Given the description of an element on the screen output the (x, y) to click on. 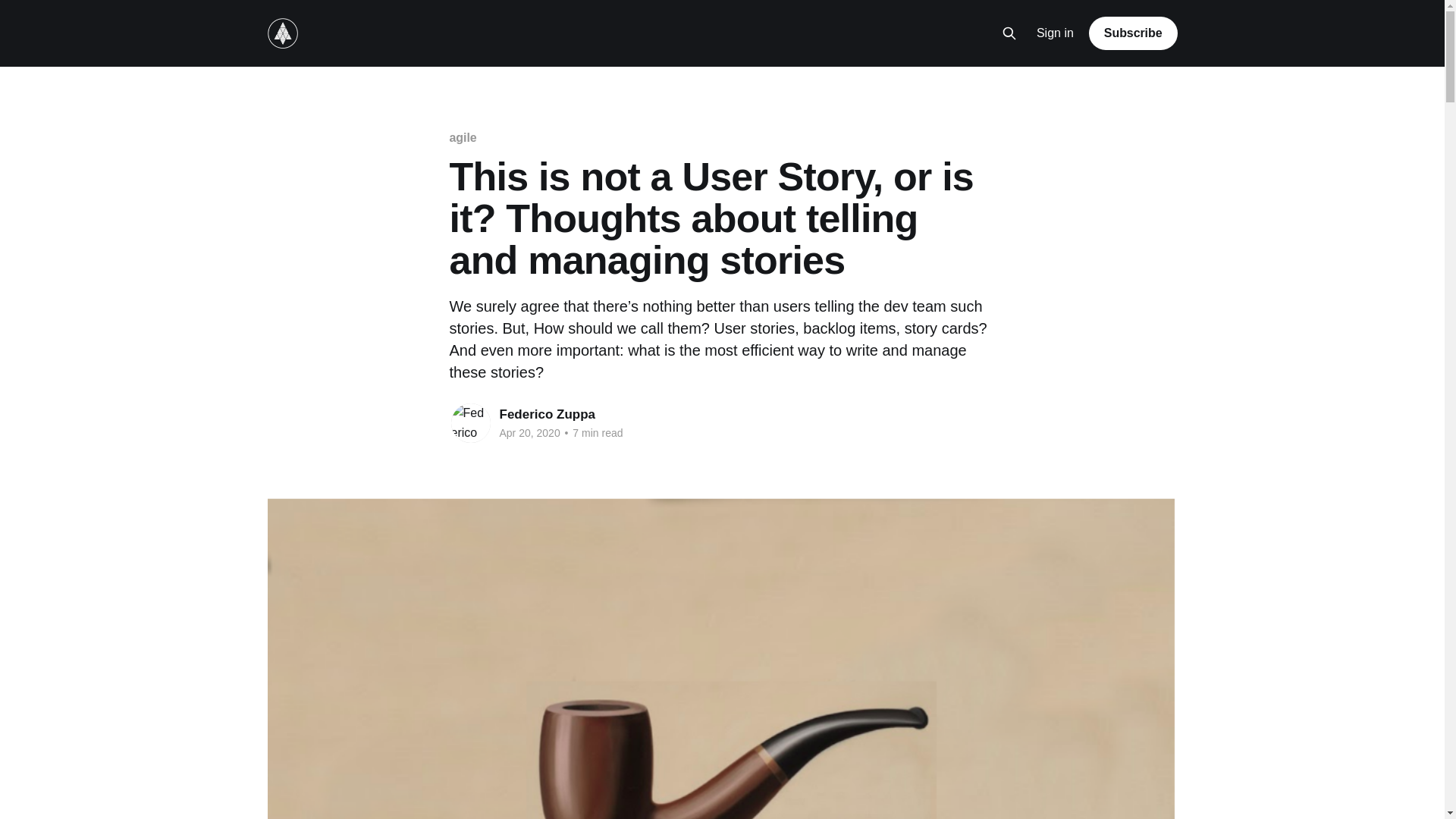
agile Element type: text (462, 137)
Subscribe Element type: text (1132, 33)
Federico Zuppa Element type: text (546, 414)
Sign in Element type: text (1054, 33)
